Given the description of an element on the screen output the (x, y) to click on. 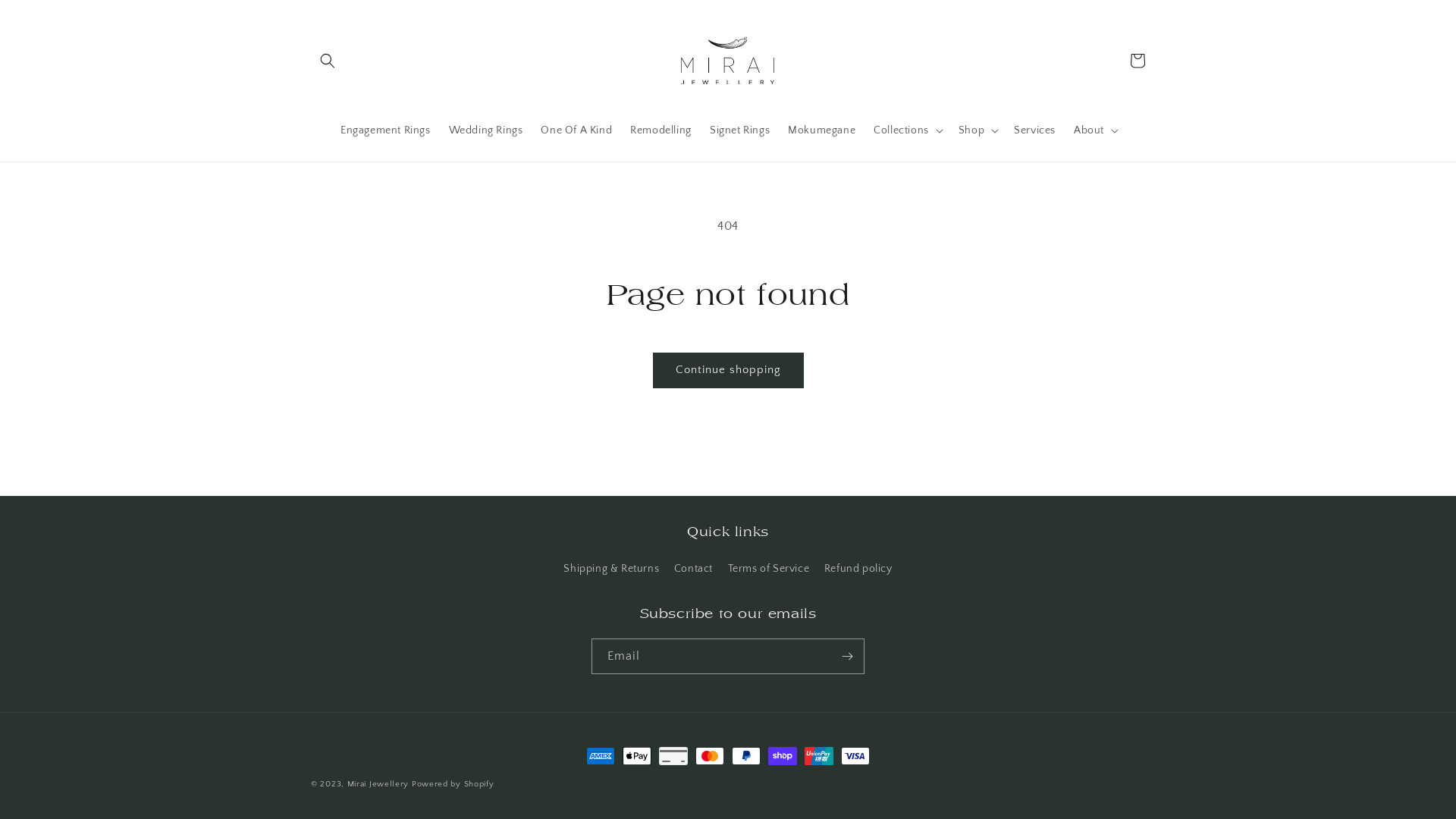
Engagement Rings Element type: text (385, 130)
Cart Element type: text (1137, 60)
Remodelling Element type: text (660, 130)
Contact Element type: text (693, 568)
Mokumegane Element type: text (821, 130)
One Of A Kind Element type: text (576, 130)
Shipping & Returns Element type: text (610, 570)
Continue shopping Element type: text (727, 370)
Powered by Shopify Element type: text (452, 783)
Refund policy Element type: text (858, 568)
Signet Rings Element type: text (739, 130)
Mirai Jewellery Element type: text (378, 783)
Wedding Rings Element type: text (485, 130)
Terms of Service Element type: text (768, 568)
Services Element type: text (1034, 130)
